Given the description of an element on the screen output the (x, y) to click on. 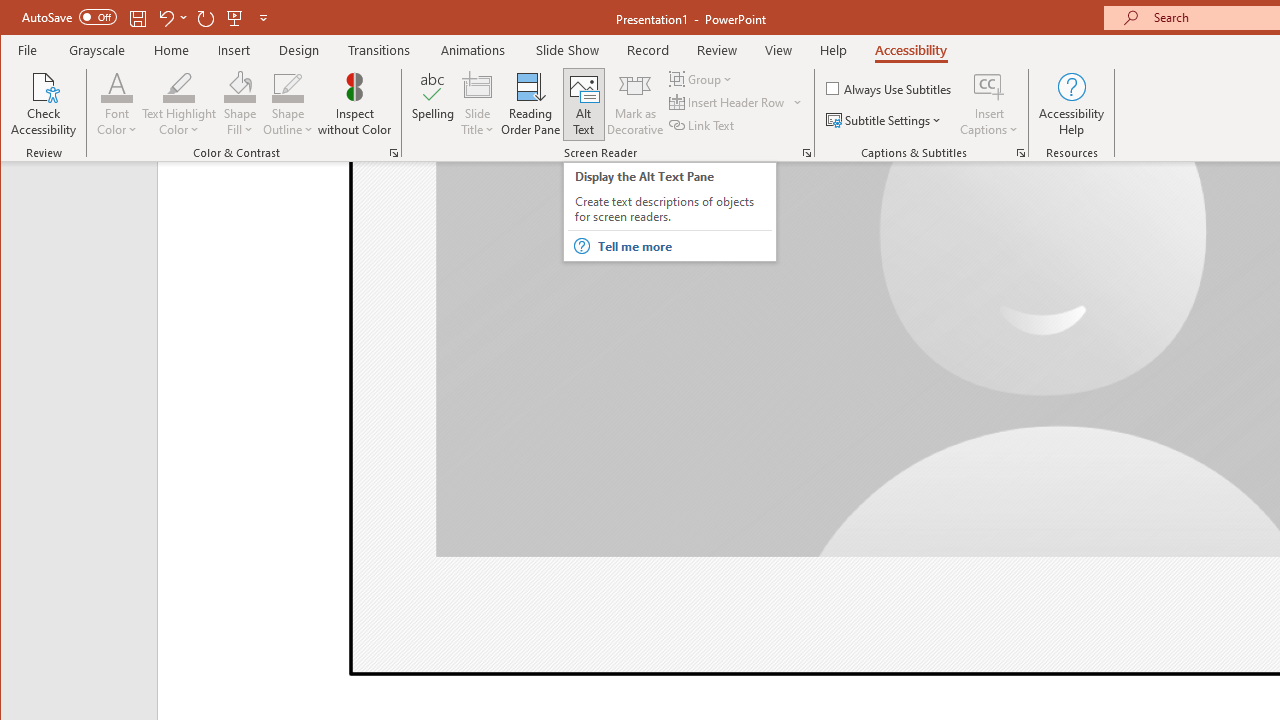
Subtitle Settings (885, 119)
Mark as Decorative (635, 104)
Tell me more (683, 246)
Captions & Subtitles (1020, 152)
Reading Order Pane (531, 104)
